Given the description of an element on the screen output the (x, y) to click on. 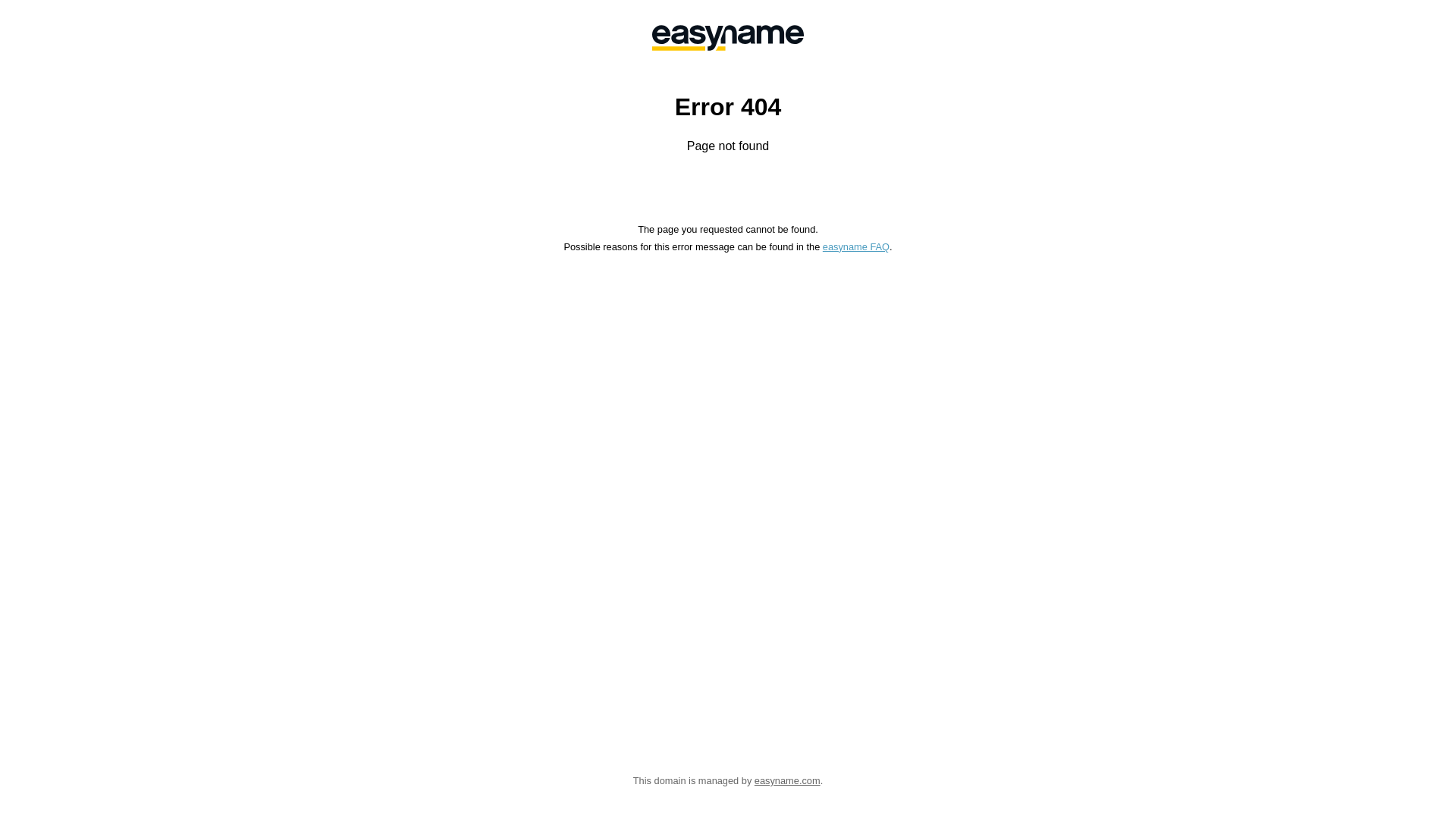
easyname.com Element type: text (787, 780)
easyname GmbH Element type: hover (727, 37)
easyname FAQ Element type: text (855, 246)
